Given the description of an element on the screen output the (x, y) to click on. 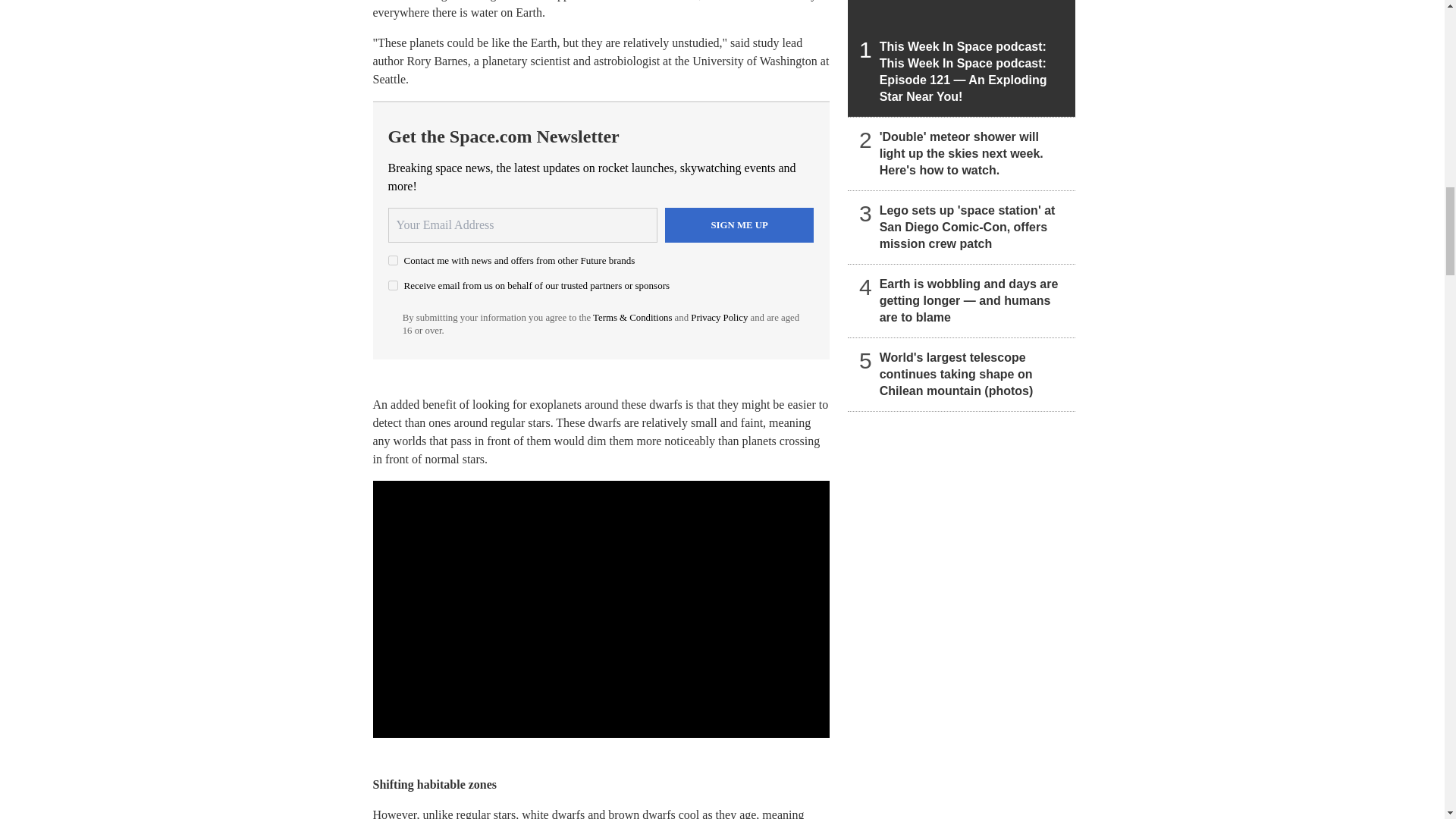
on (392, 285)
on (392, 260)
Sign me up (739, 225)
